Given the description of an element on the screen output the (x, y) to click on. 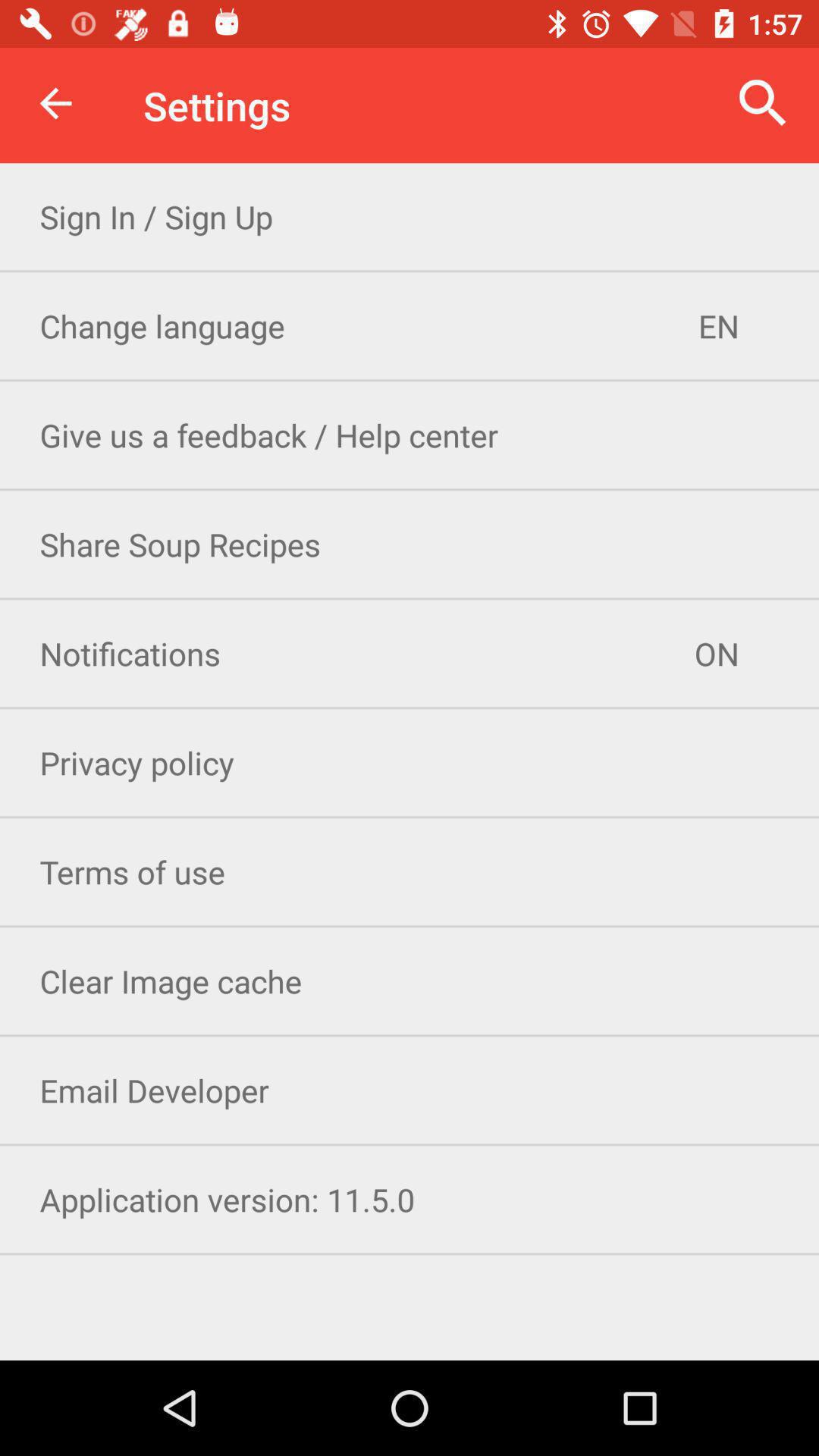
scroll to email developer item (409, 1089)
